Given the description of an element on the screen output the (x, y) to click on. 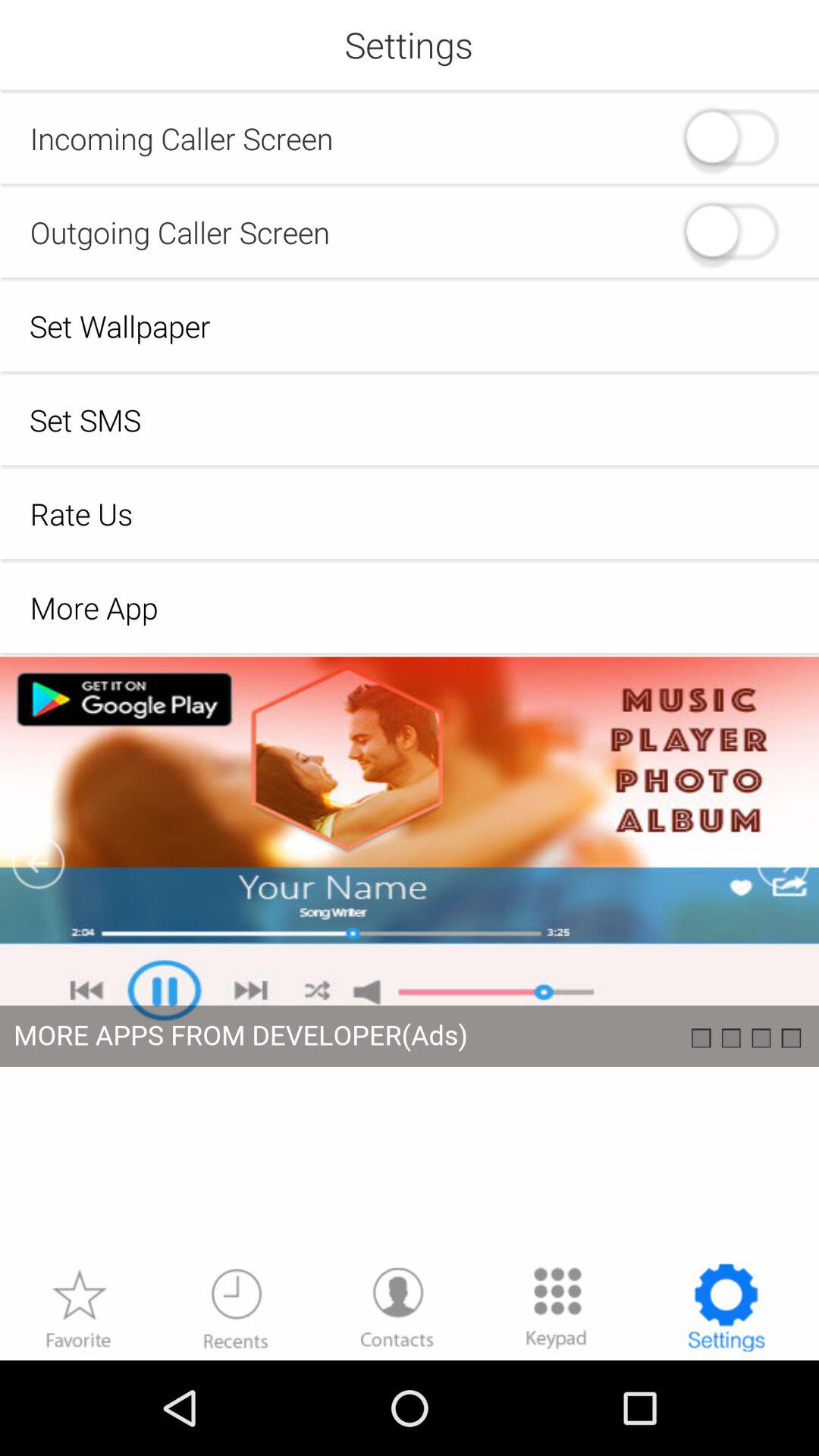
open keypad (556, 1307)
